Given the description of an element on the screen output the (x, y) to click on. 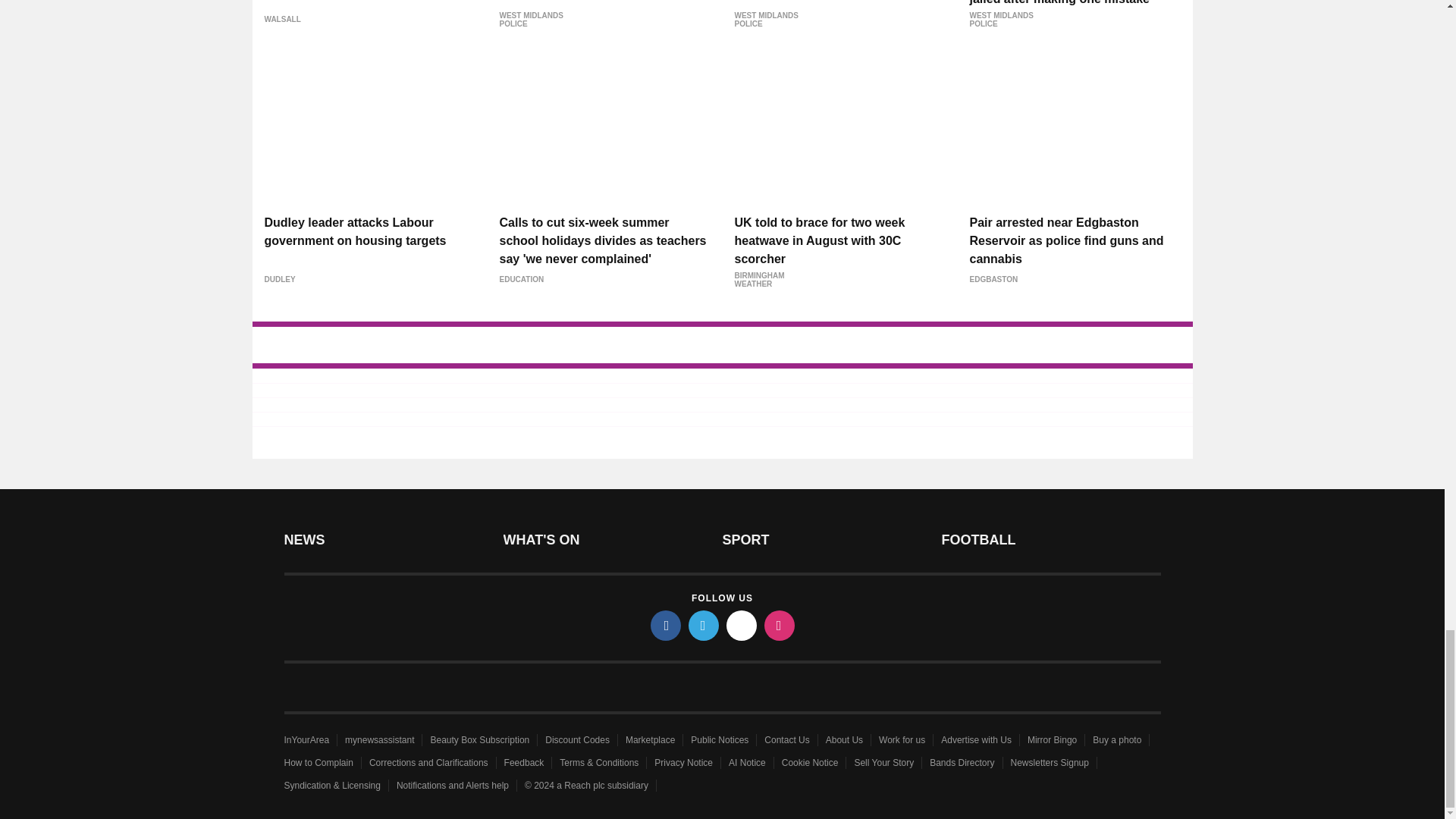
facebook (665, 625)
tiktok (741, 625)
twitter (703, 625)
instagram (779, 625)
